Given the description of an element on the screen output the (x, y) to click on. 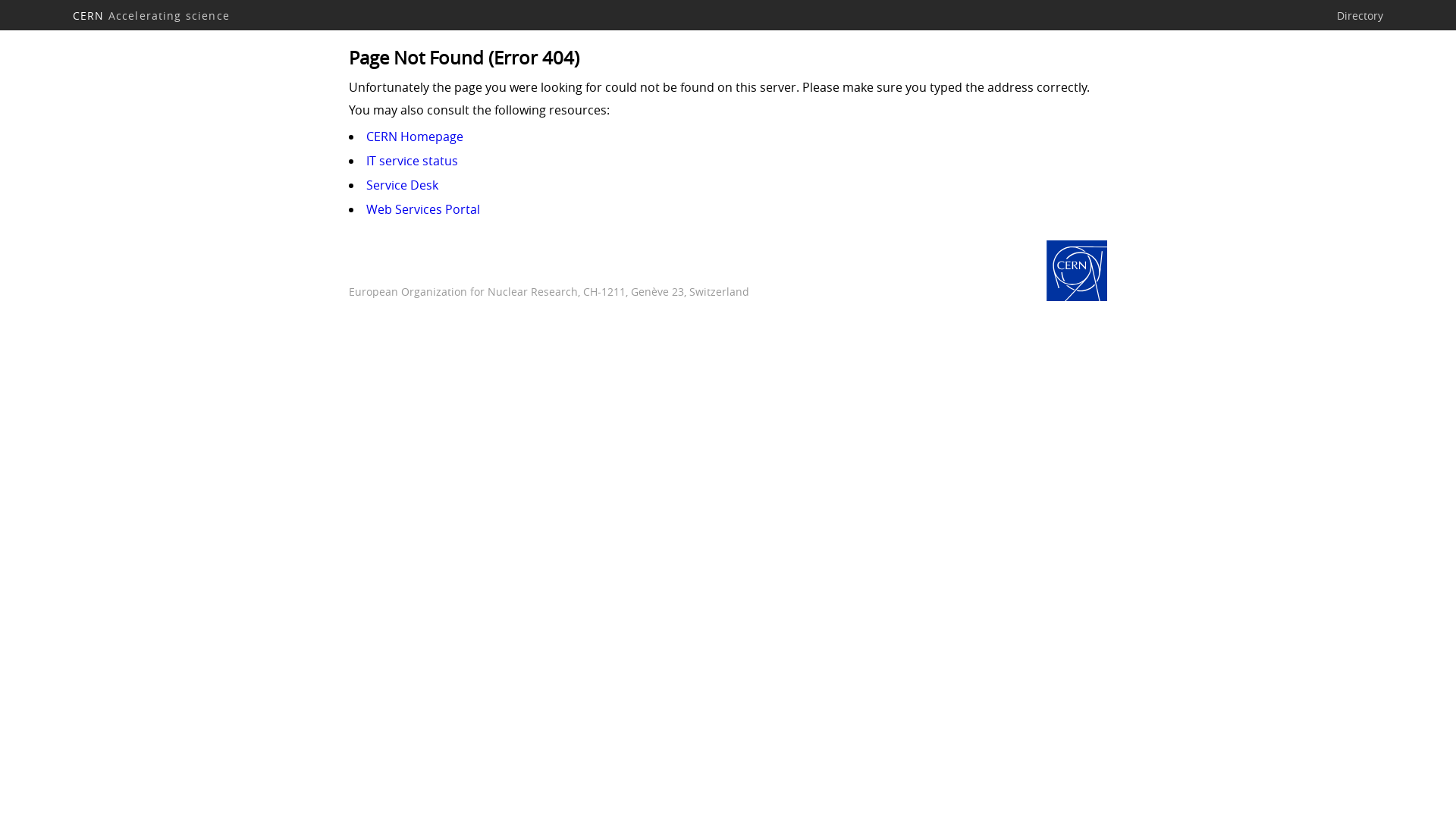
CERN Homepage Element type: text (414, 136)
CERN Accelerating science Element type: text (150, 14)
Service Desk Element type: text (402, 184)
Directory Element type: text (1359, 14)
CERN Homepage Element type: hover (1076, 272)
Web Services Portal Element type: text (423, 208)
IT service status Element type: text (412, 160)
